Given the description of an element on the screen output the (x, y) to click on. 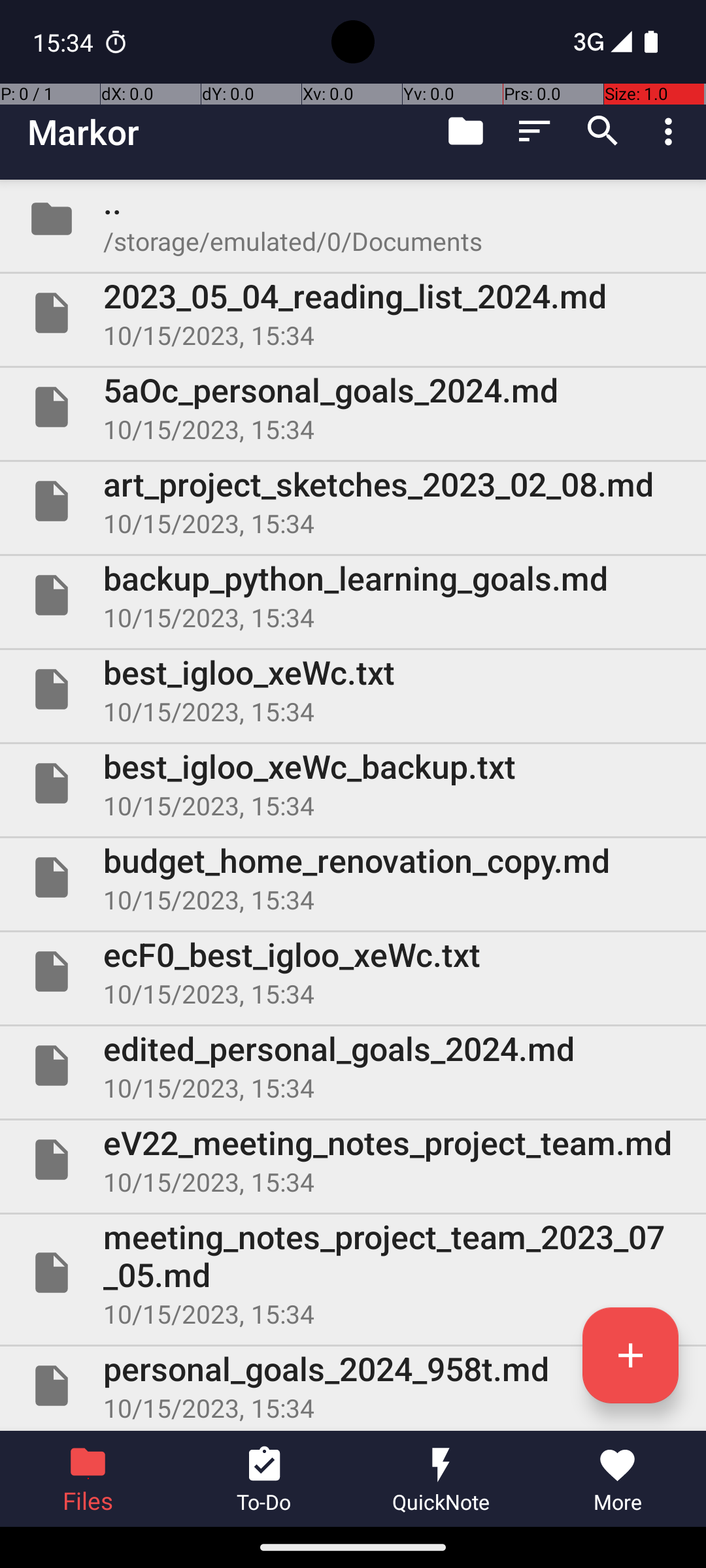
File 2023_05_04_reading_list_2024.md  Element type: android.widget.LinearLayout (353, 312)
File 5aOc_personal_goals_2024.md  Element type: android.widget.LinearLayout (353, 406)
File art_project_sketches_2023_02_08.md  Element type: android.widget.LinearLayout (353, 500)
File backup_python_learning_goals.md  Element type: android.widget.LinearLayout (353, 594)
File best_igloo_xeWc.txt  Element type: android.widget.LinearLayout (353, 689)
File best_igloo_xeWc_backup.txt  Element type: android.widget.LinearLayout (353, 783)
File budget_home_renovation_copy.md  Element type: android.widget.LinearLayout (353, 877)
File ecF0_best_igloo_xeWc.txt  Element type: android.widget.LinearLayout (353, 971)
File edited_personal_goals_2024.md  Element type: android.widget.LinearLayout (353, 1065)
File eV22_meeting_notes_project_team.md  Element type: android.widget.LinearLayout (353, 1159)
File meeting_notes_project_team_2023_07_05.md  Element type: android.widget.LinearLayout (353, 1272)
File personal_goals_2024_958t.md  Element type: android.widget.LinearLayout (353, 1385)
